Given the description of an element on the screen output the (x, y) to click on. 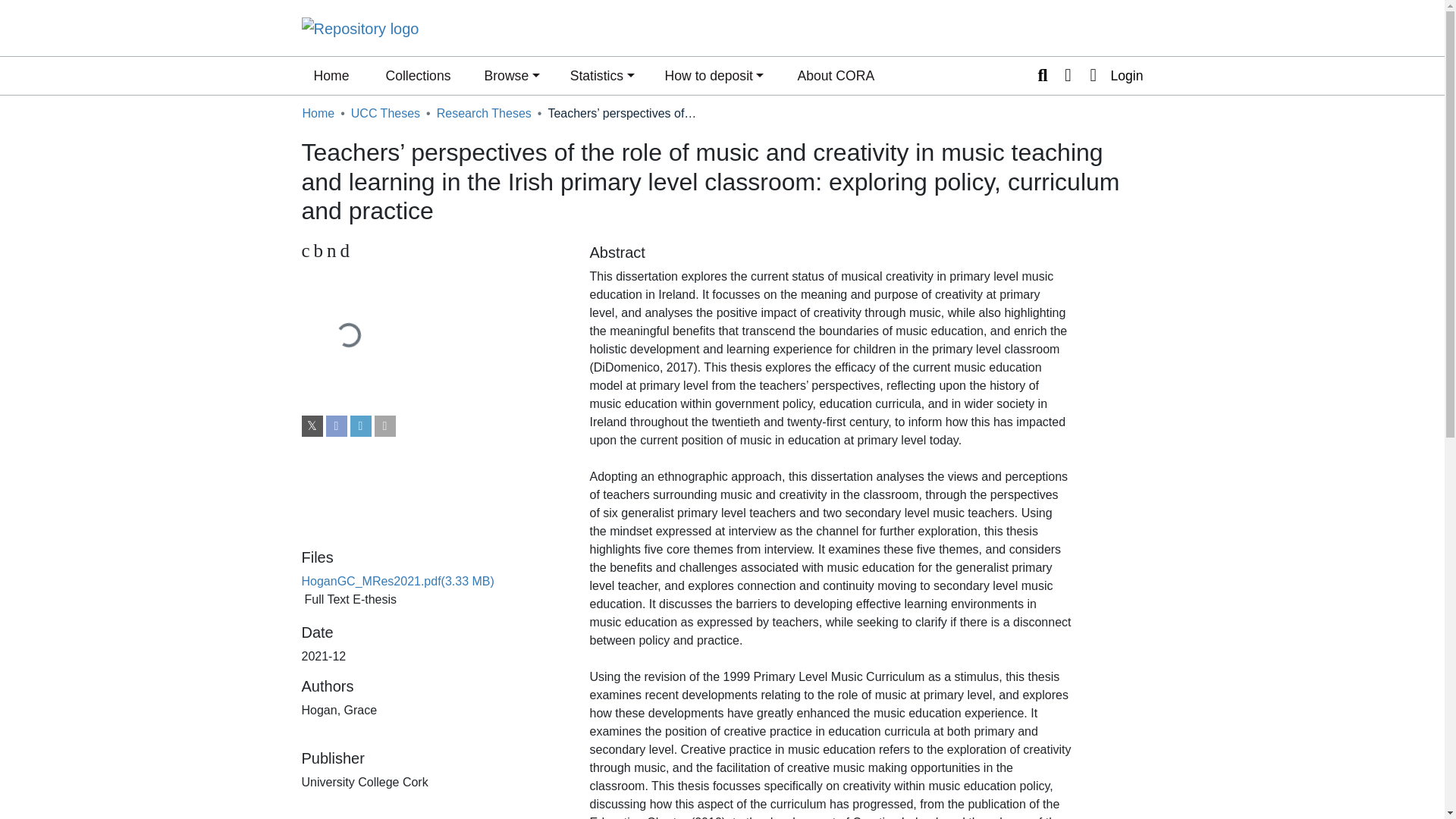
Home (317, 113)
Collections (417, 75)
About CORA (835, 75)
Collections (417, 75)
Home (331, 75)
Statistics (602, 75)
How to deposit (714, 75)
Home (331, 75)
Login (434, 250)
Research Theses (1111, 75)
Search (483, 113)
About CORA (1041, 75)
UCC Theses (835, 75)
Browse (385, 113)
